Given the description of an element on the screen output the (x, y) to click on. 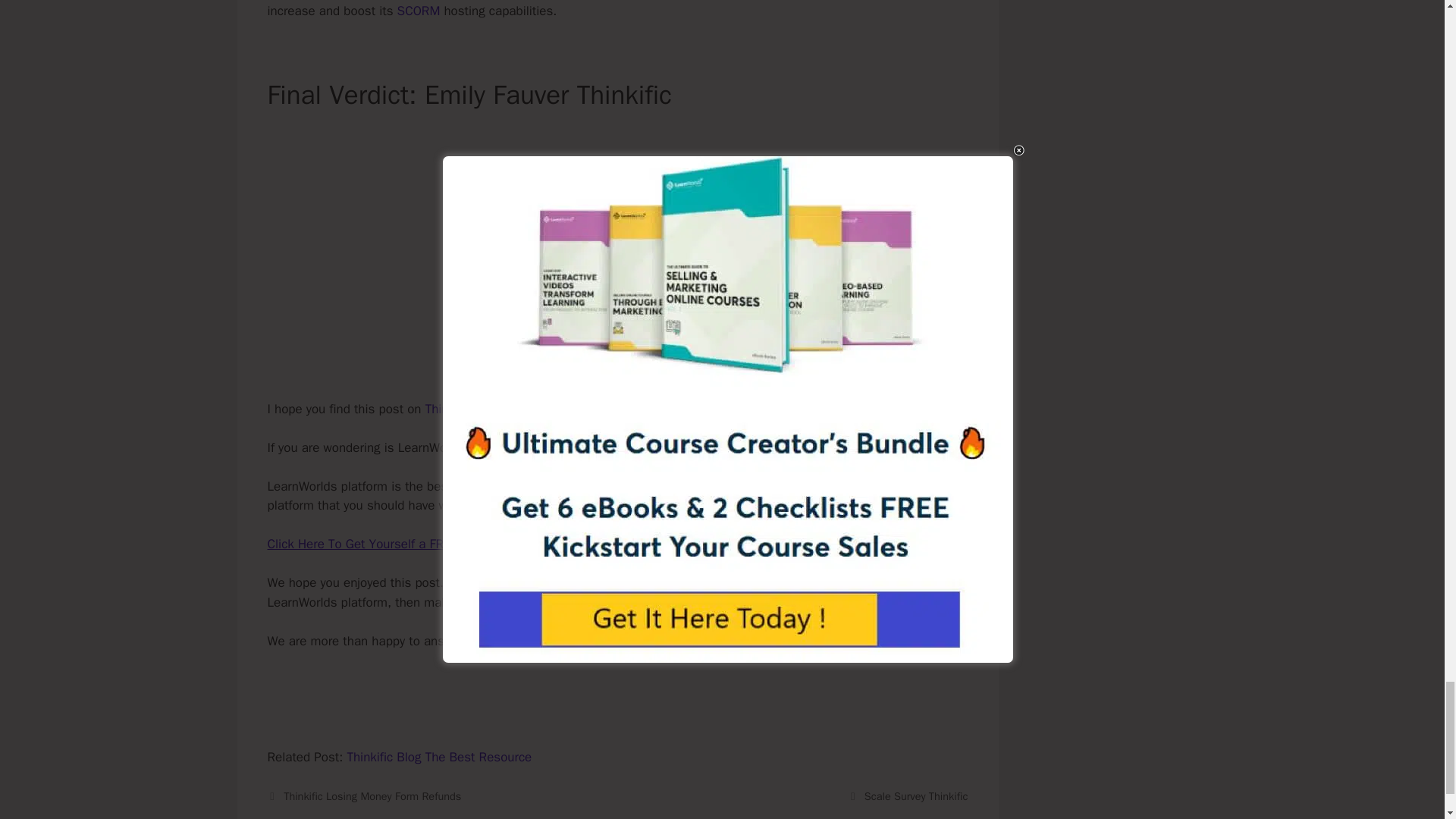
Thinkific platform (473, 408)
Click Here To Get Yourself a FREE TRIAL (379, 544)
SCORM (419, 10)
Scale Survey Thinkific (916, 796)
Thinkific Blog The Best Resource (438, 756)
Thinkific Losing Money Form Refunds (372, 796)
